Given the description of an element on the screen output the (x, y) to click on. 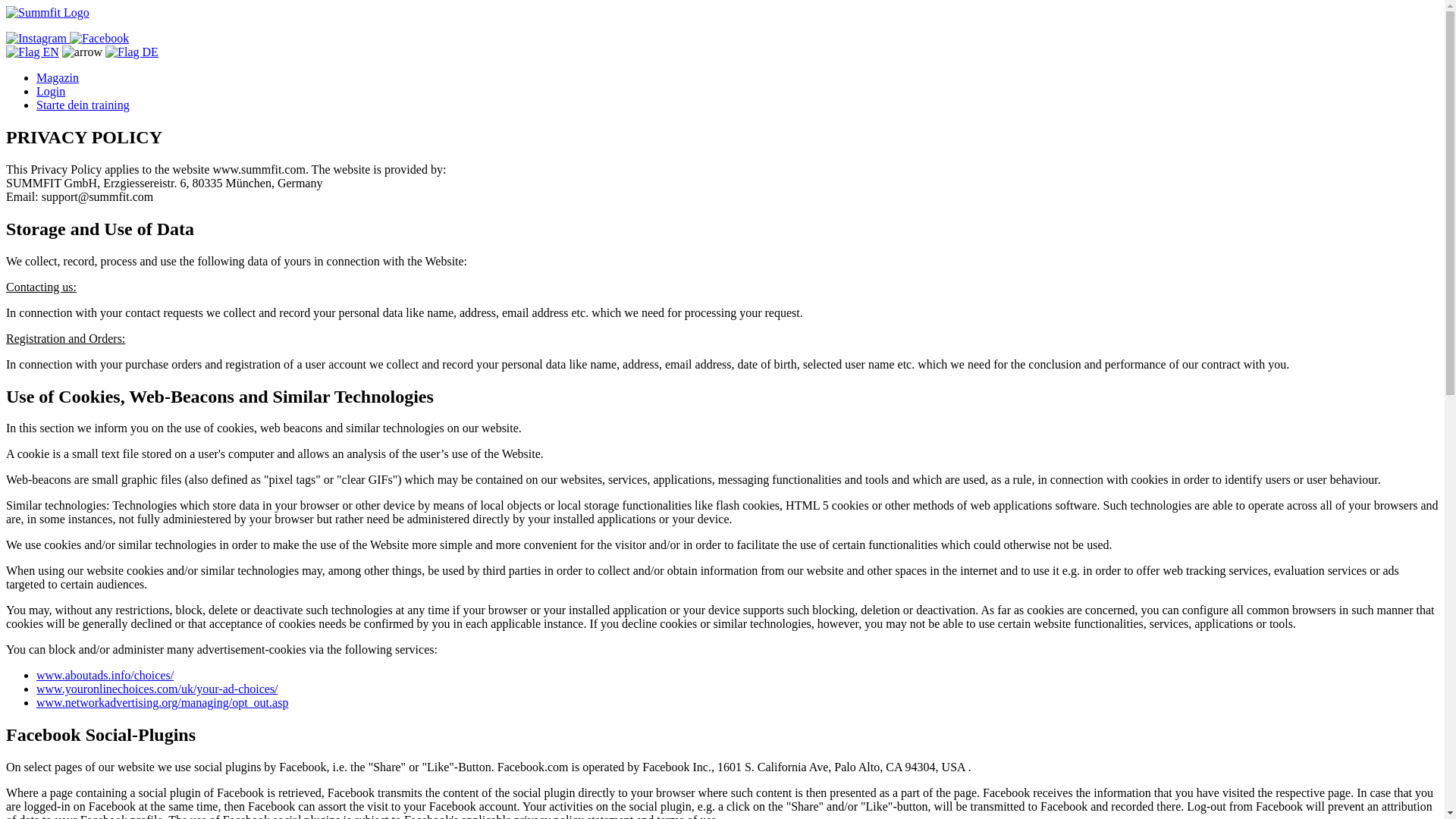
Magazin (57, 77)
Starte dein training (82, 104)
Login (50, 91)
